Given the description of an element on the screen output the (x, y) to click on. 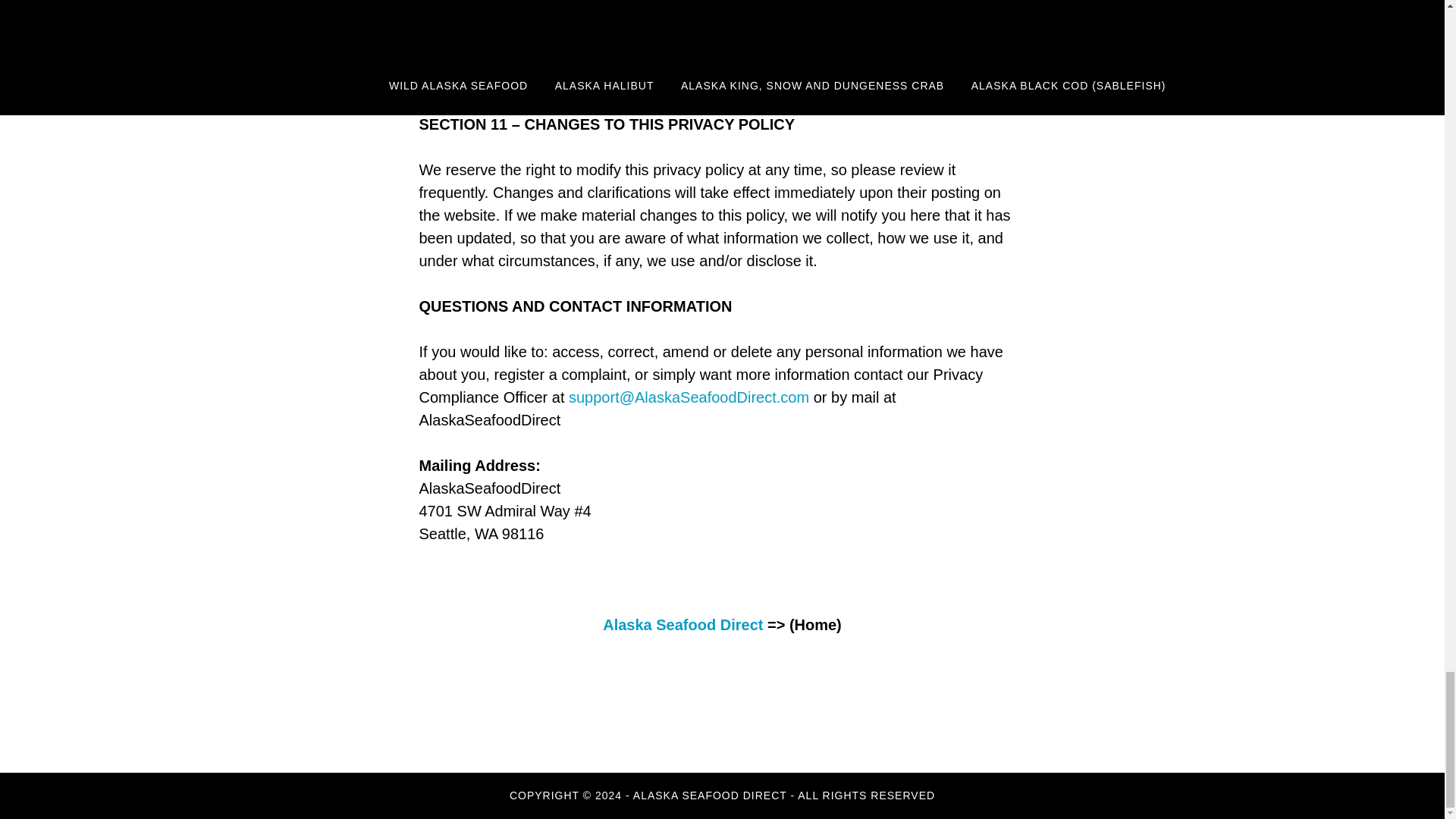
Alaska Seafood Direct (682, 624)
